Given the description of an element on the screen output the (x, y) to click on. 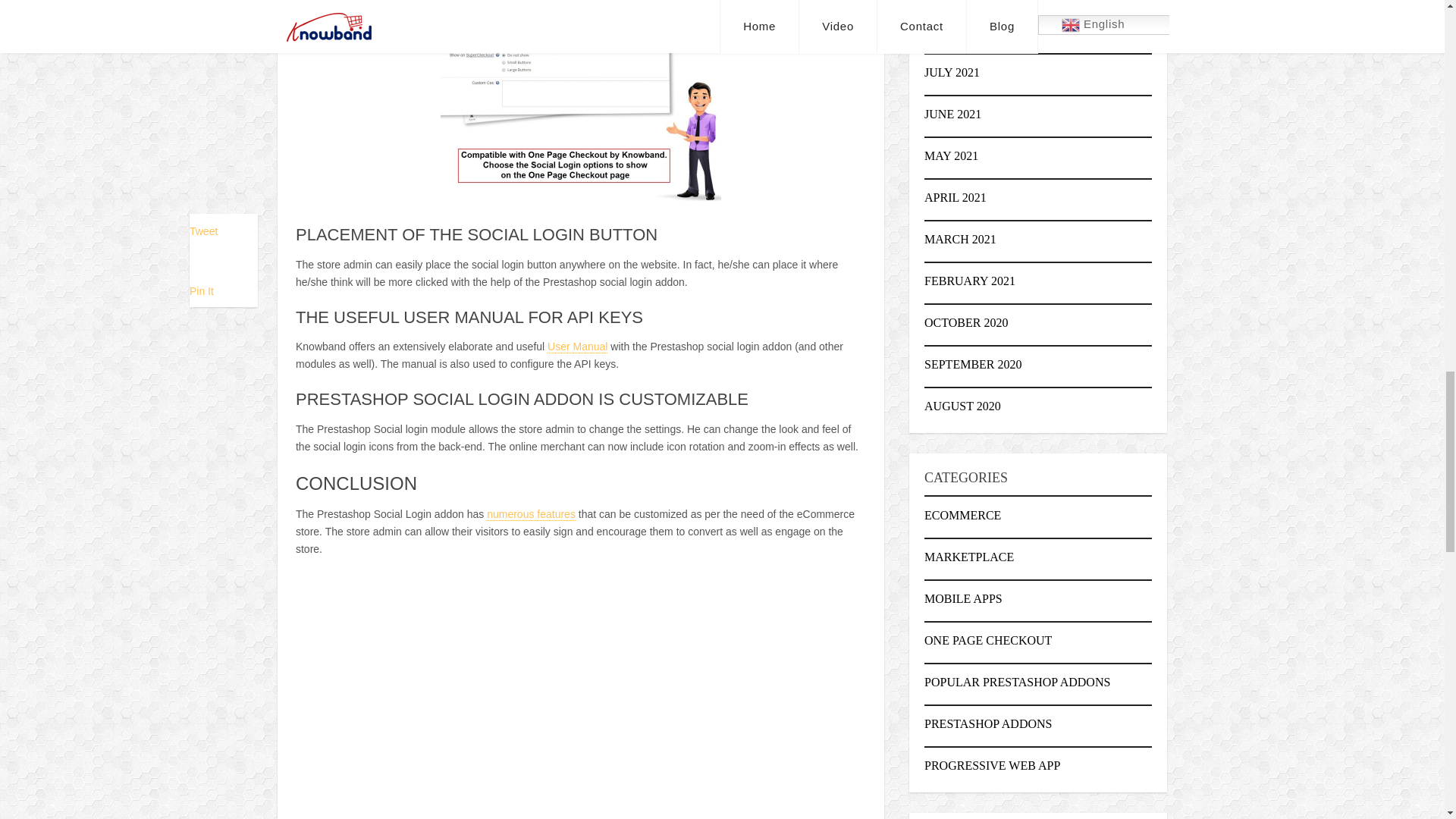
numerous features (530, 513)
User Manual (577, 346)
